Given the description of an element on the screen output the (x, y) to click on. 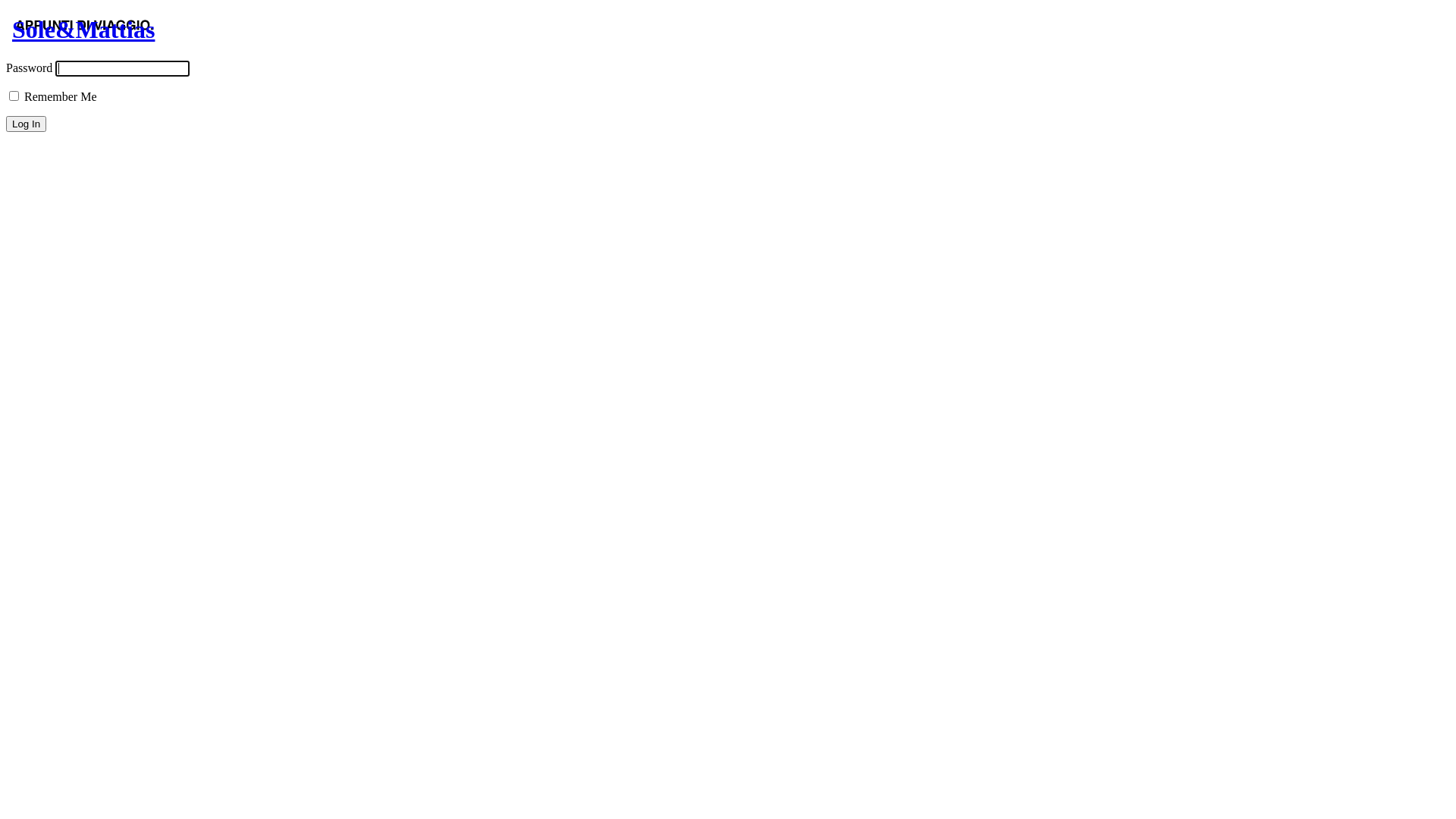
Log In Element type: text (26, 123)
Sole&Mattias Element type: text (83, 35)
